Given the description of an element on the screen output the (x, y) to click on. 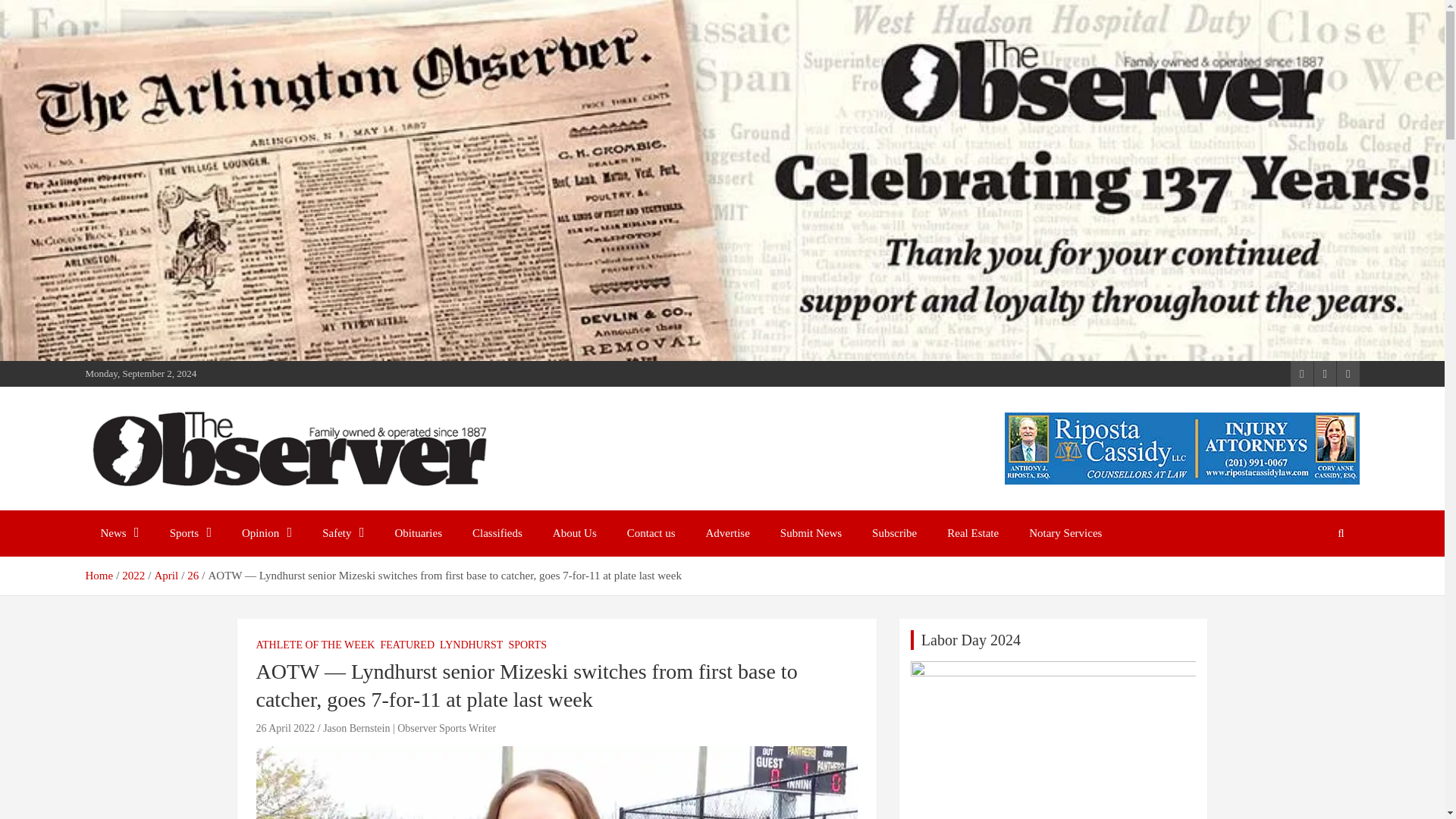
Classifieds (497, 533)
Obituaries (418, 533)
News (119, 533)
Sports (190, 533)
Labor Day 2024 (1053, 739)
Opinion (267, 533)
The Observer Online (212, 506)
About Us (574, 533)
Safety (342, 533)
